Given the description of an element on the screen output the (x, y) to click on. 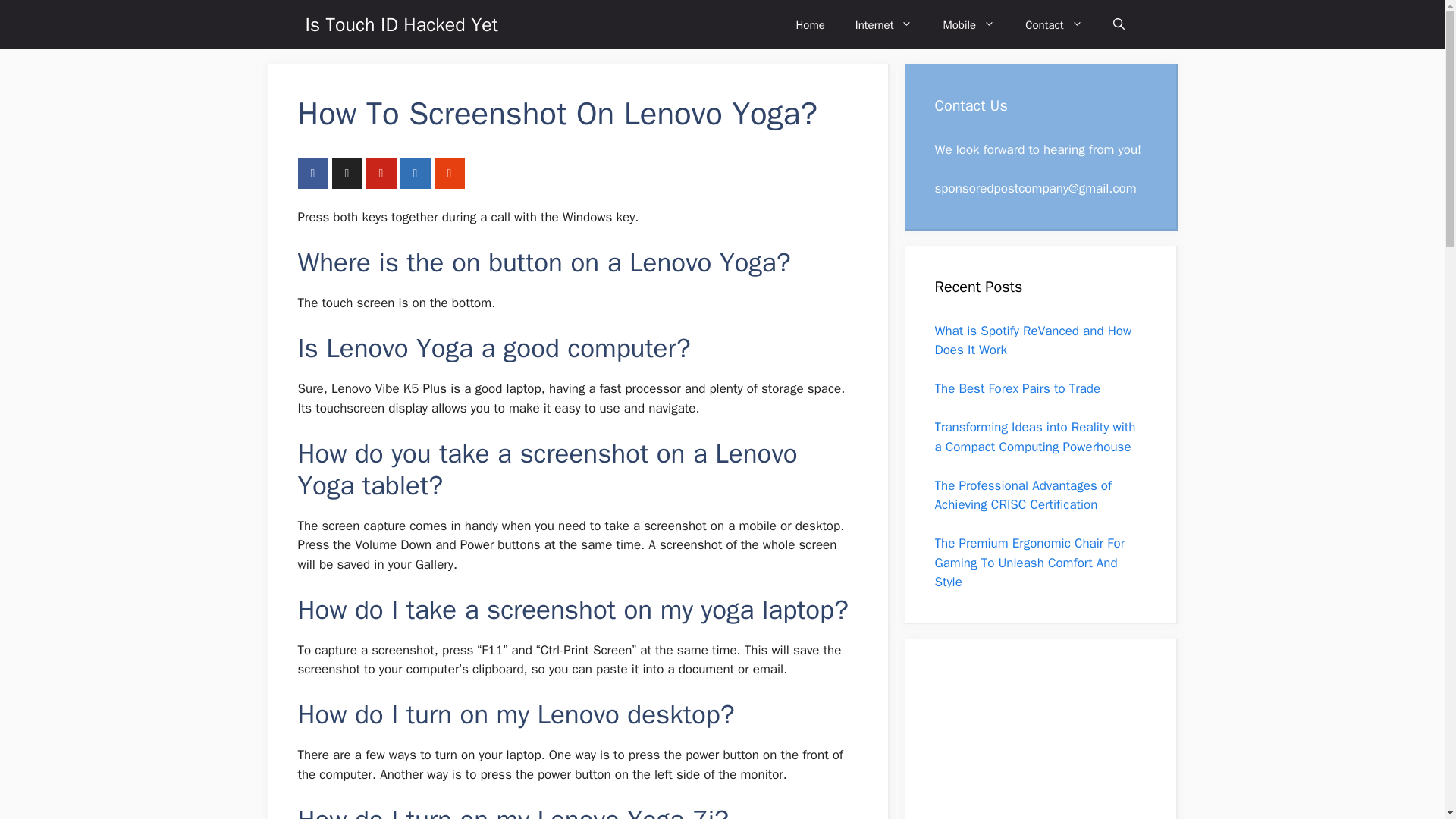
Contact (1053, 23)
Home (810, 23)
Mobile (968, 23)
Is Touch ID Hacked Yet (400, 24)
Advertisement (1031, 744)
Internet (884, 23)
